Given the description of an element on the screen output the (x, y) to click on. 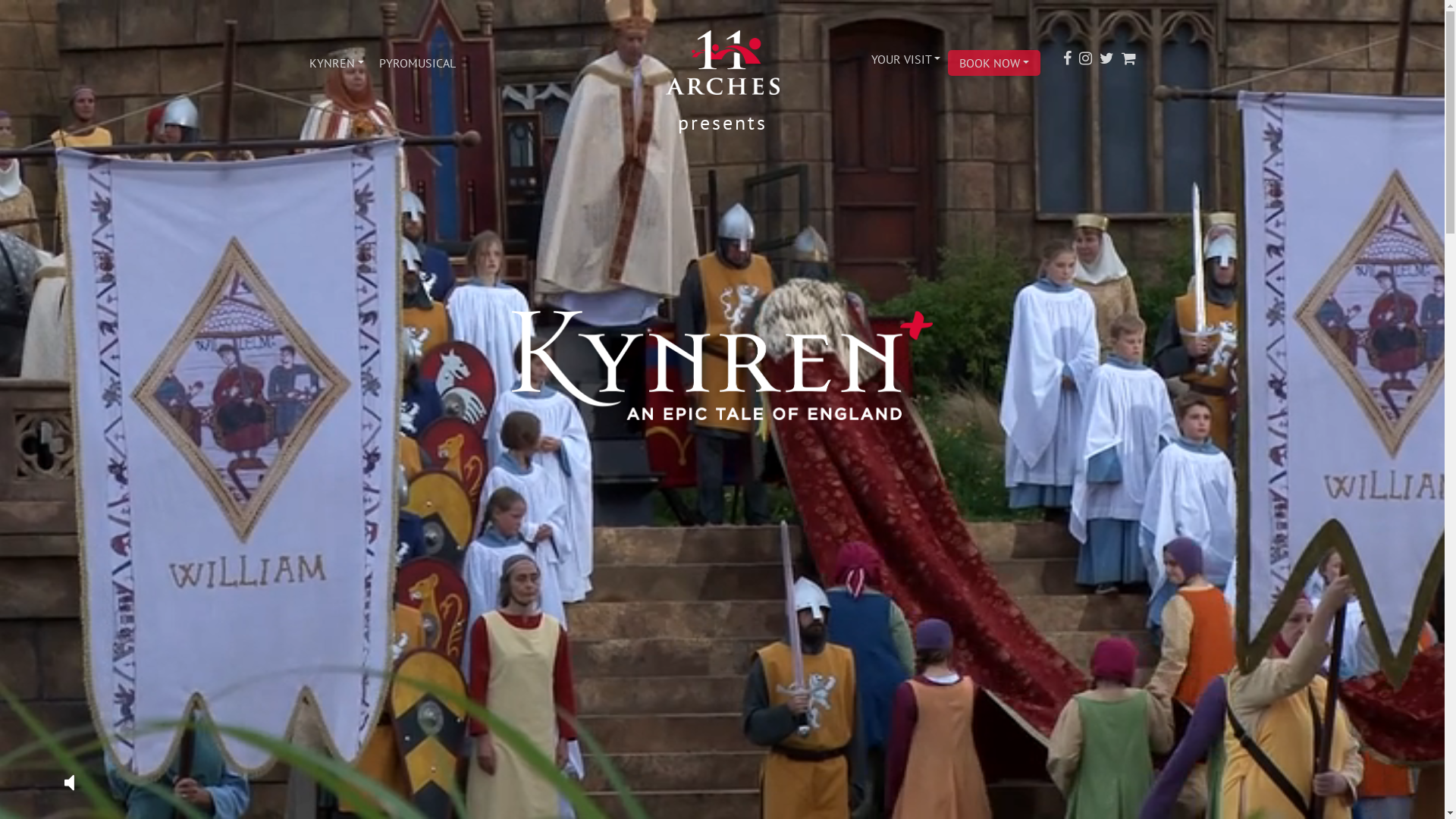
YOUR VISIT Element type: text (904, 59)
PYROMUSICAL Element type: text (417, 62)
BOOK NOW Element type: text (993, 62)
KYNREN Element type: text (336, 62)
